Given the description of an element on the screen output the (x, y) to click on. 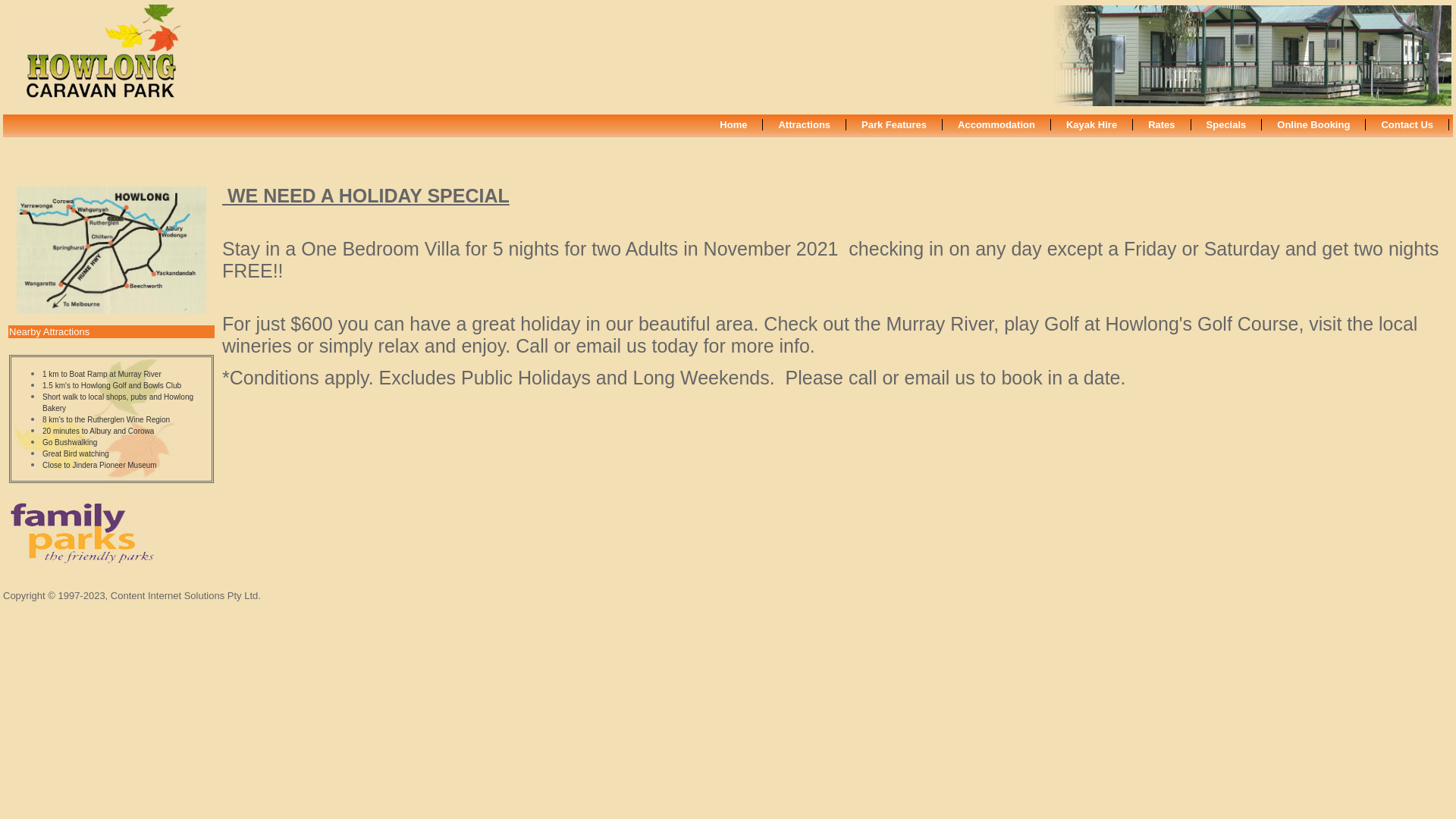
Accommodation Element type: text (996, 124)
Specials Element type: text (1226, 124)
Kayak Hire Element type: text (1091, 124)
Online Booking Element type: text (1313, 124)
Contact Us Element type: text (1407, 124)
Home Element type: text (733, 124)
Rates Element type: text (1161, 124)
Park Features Element type: text (894, 124)
Attractions Element type: text (804, 124)
